Given the description of an element on the screen output the (x, y) to click on. 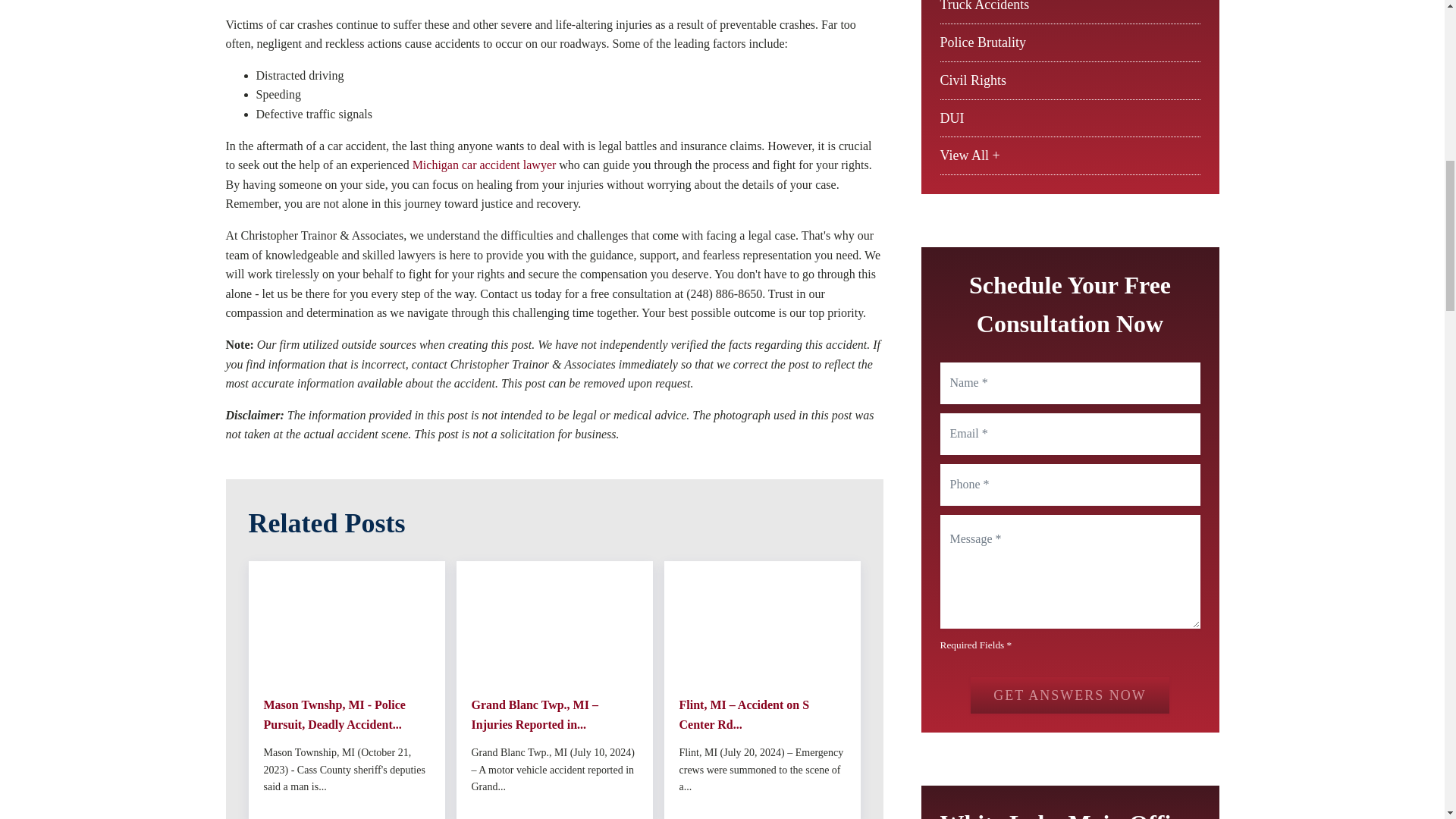
Get Answers Now (1070, 695)
Mason Twnshp, MI - Police Pursuit, Deadly Accident... (346, 714)
Get Answers Now (1070, 695)
Police Brutality (983, 42)
Michigan car accident lawyer (484, 164)
Truck Accidents (984, 6)
DUI (951, 118)
Civil Rights (973, 79)
